Given the description of an element on the screen output the (x, y) to click on. 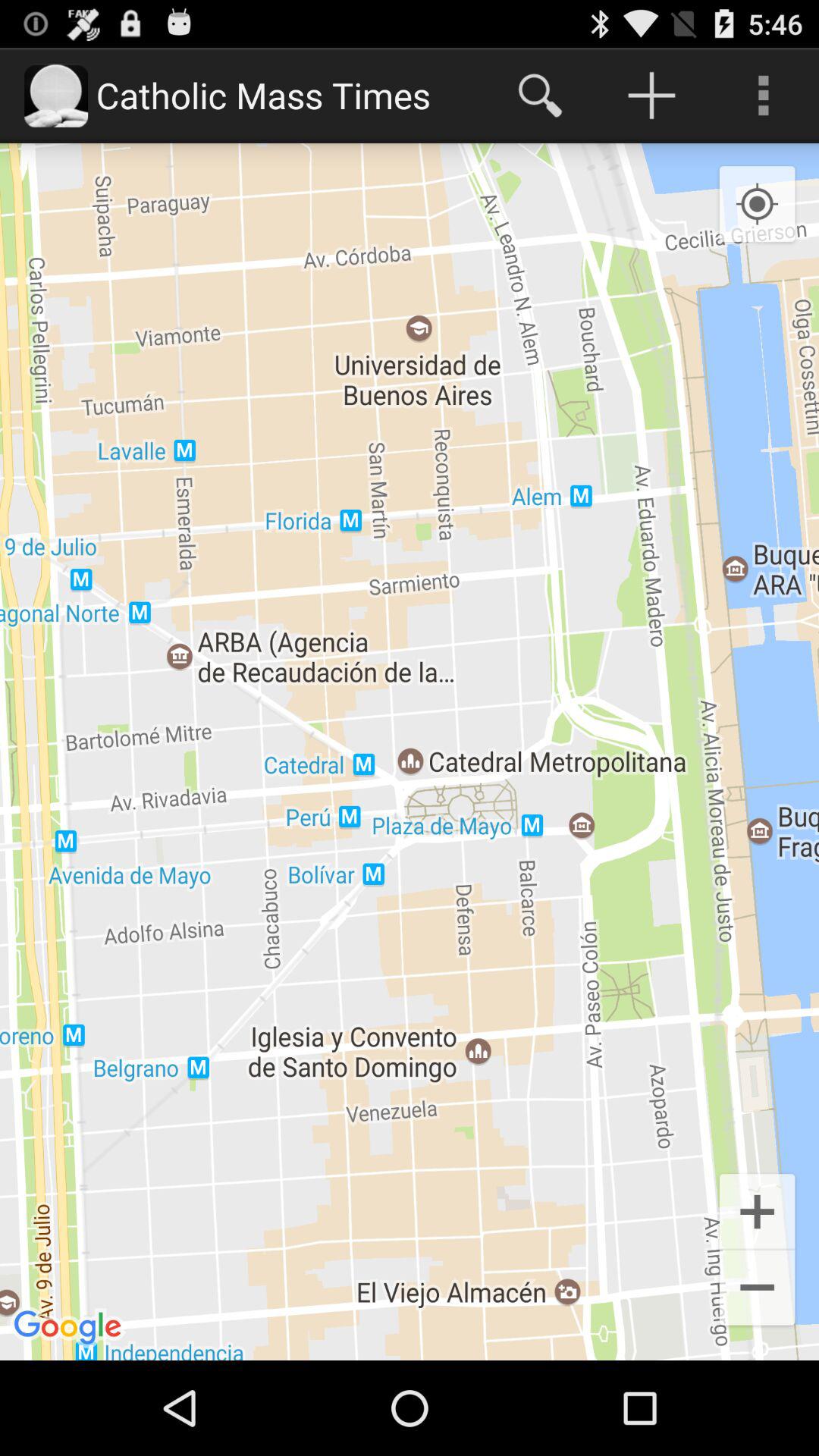
tap the item at the top (540, 95)
